Given the description of an element on the screen output the (x, y) to click on. 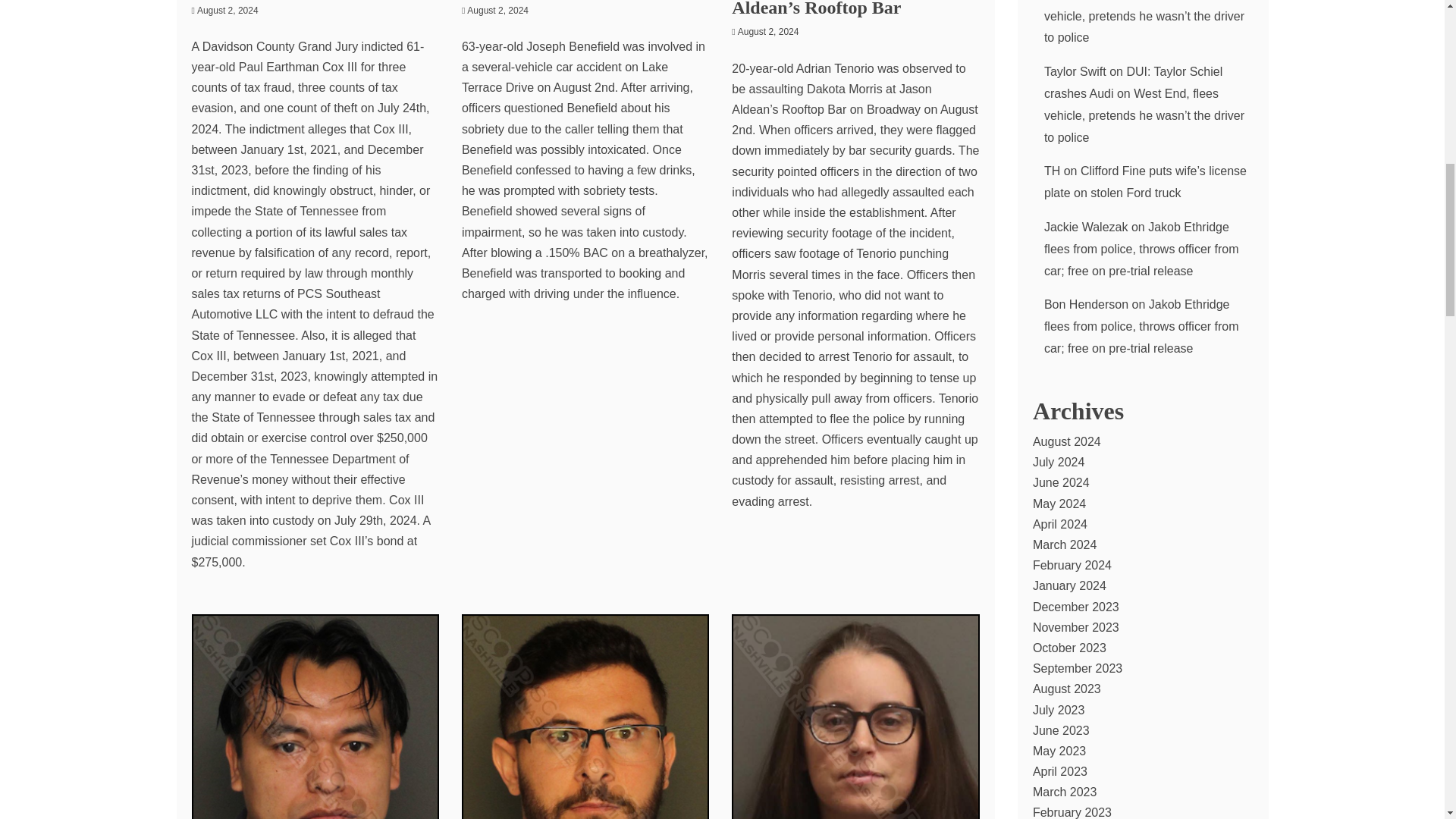
August 2, 2024 (227, 9)
August 2, 2024 (768, 31)
August 2, 2024 (497, 9)
